Given the description of an element on the screen output the (x, y) to click on. 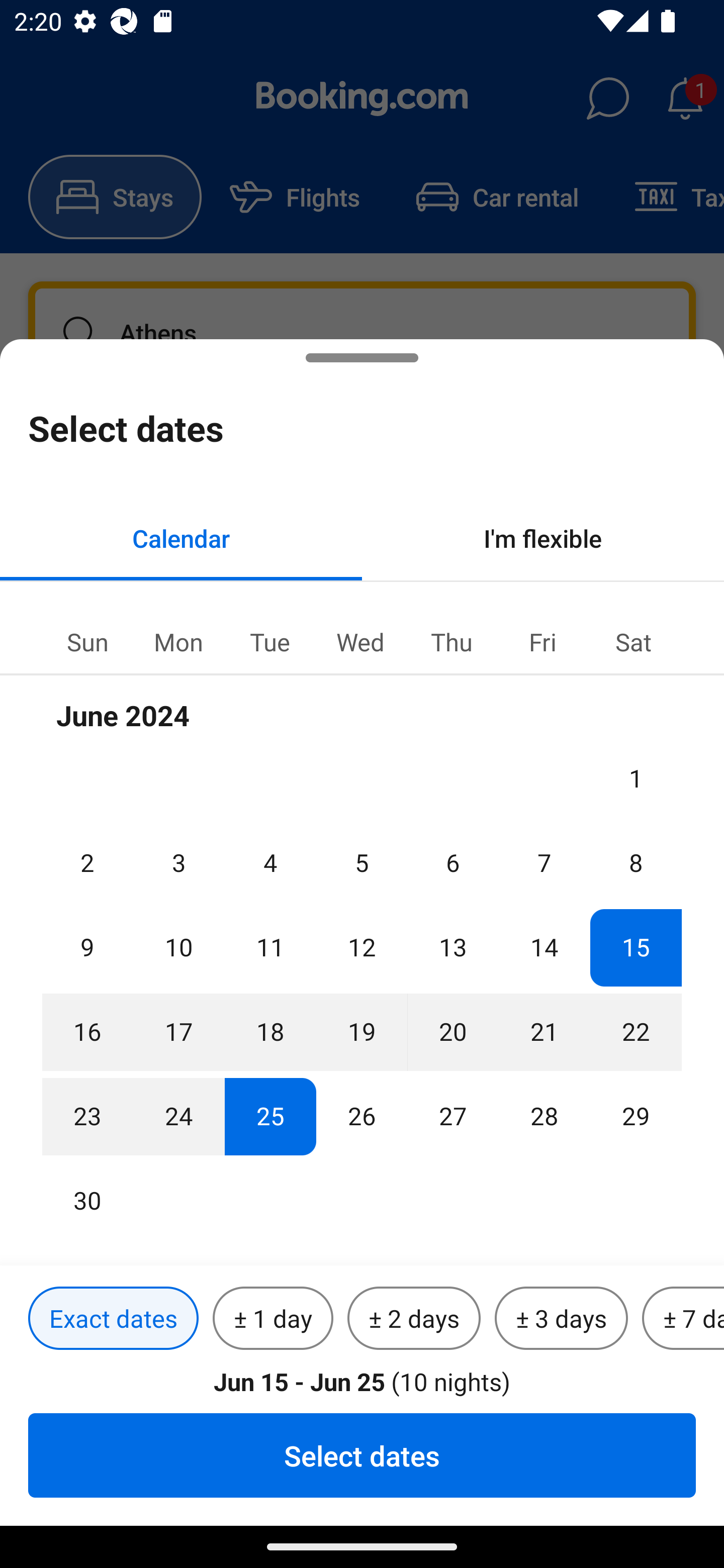
I'm flexible (543, 537)
Exact dates (113, 1318)
± 1 day (272, 1318)
± 2 days (413, 1318)
± 3 days (560, 1318)
± 7 days (683, 1318)
Select dates (361, 1454)
